Given the description of an element on the screen output the (x, y) to click on. 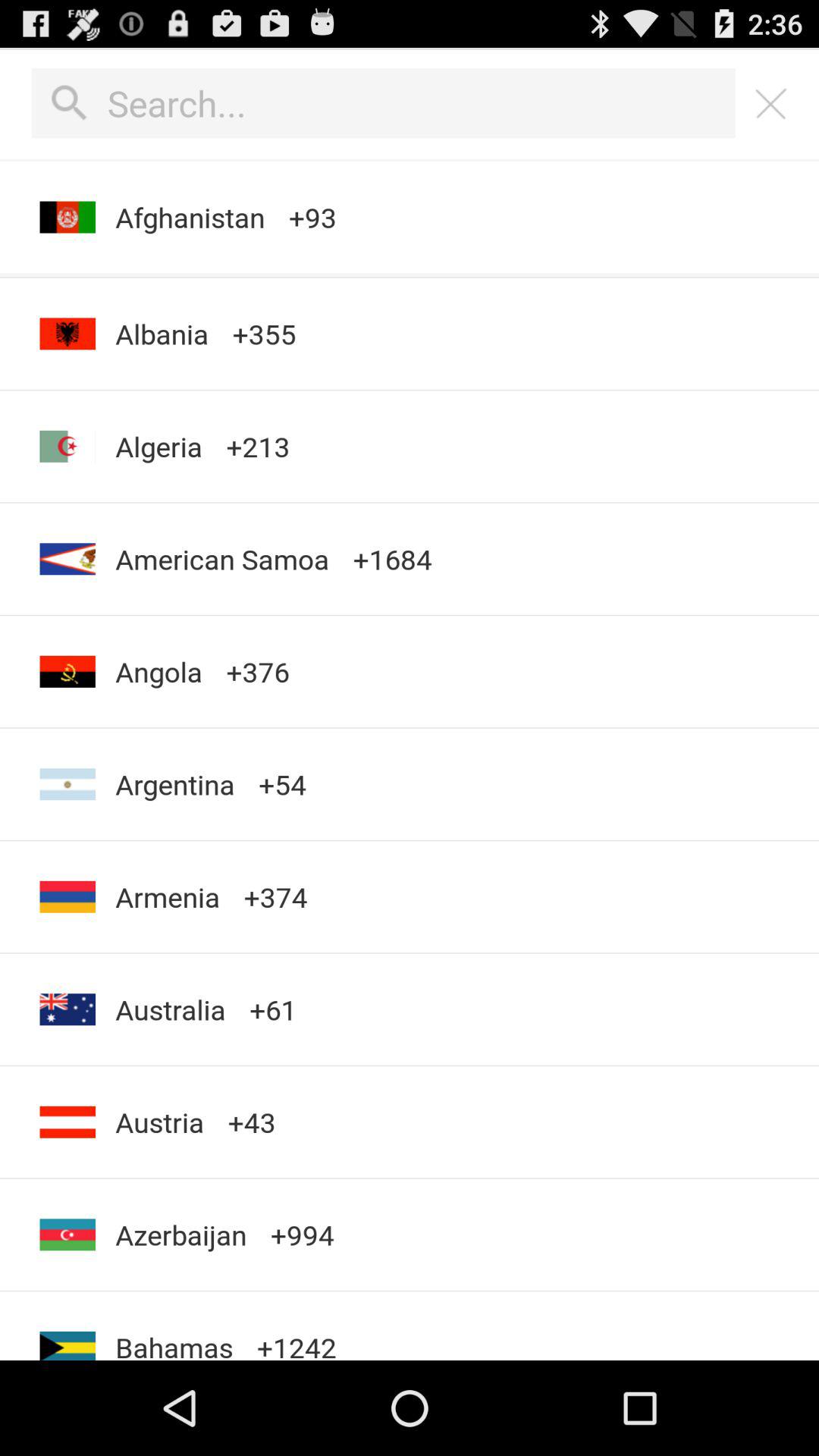
tap +43 item (251, 1121)
